Given the description of an element on the screen output the (x, y) to click on. 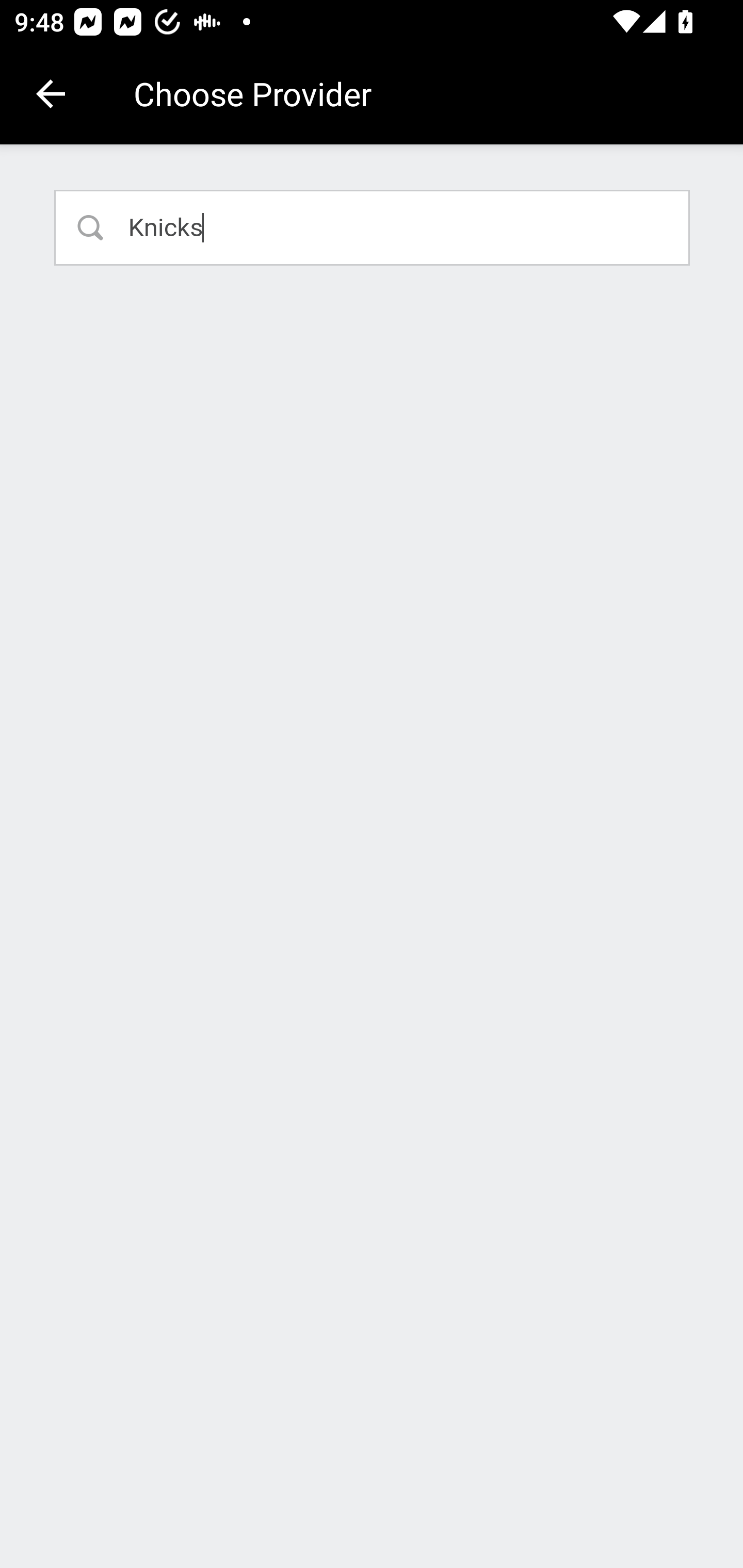
Navigate up (50, 93)
Knicks (372, 227)
